Given the description of an element on the screen output the (x, y) to click on. 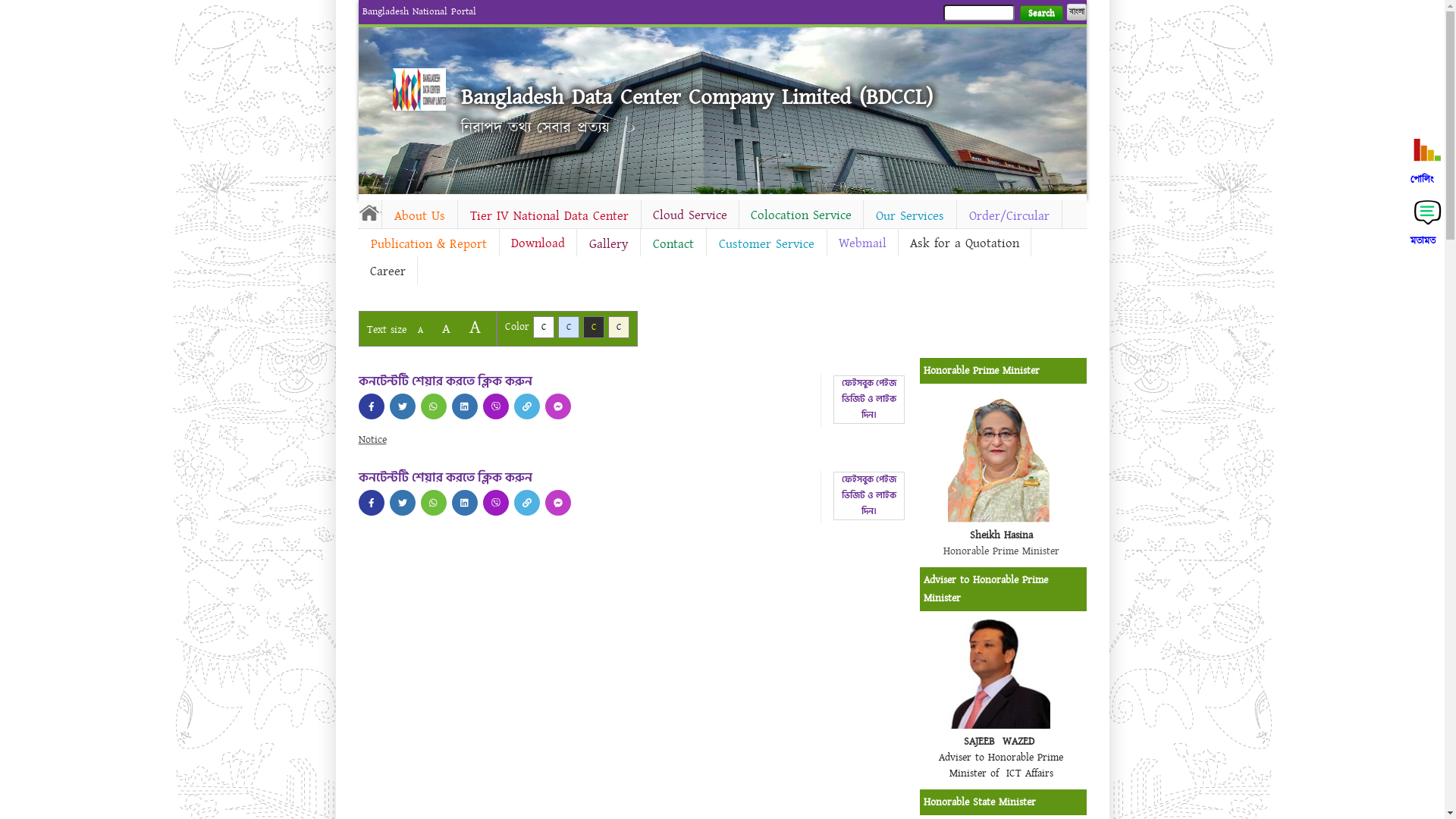
Home Element type: hover (418, 89)
Tier IV National Data Center Element type: text (549, 216)
Our Services Element type: text (908, 216)
Career Element type: text (386, 271)
Home Element type: hover (368, 211)
Customer Service Element type: text (766, 244)
A Element type: text (419, 330)
C Element type: text (568, 327)
C Element type: text (592, 327)
Search Element type: text (1040, 13)
Bangladesh Data Center Company Limited (BDCCL) Element type: text (696, 96)
About Us Element type: text (419, 216)
Ask for a Quotation Element type: text (963, 243)
Contact Element type: text (672, 244)
A Element type: text (474, 327)
Gallery Element type: text (607, 244)
C Element type: text (542, 327)
C Element type: text (618, 327)
Download Element type: text (536, 243)
Colocation Service Element type: text (800, 215)
A Element type: text (445, 328)
Cloud Service Element type: text (689, 215)
Bangladesh National Portal Element type: text (419, 11)
Order/Circular Element type: text (1009, 216)
Webmail Element type: text (861, 243)
Publication & Report Element type: text (427, 244)
